Given the description of an element on the screen output the (x, y) to click on. 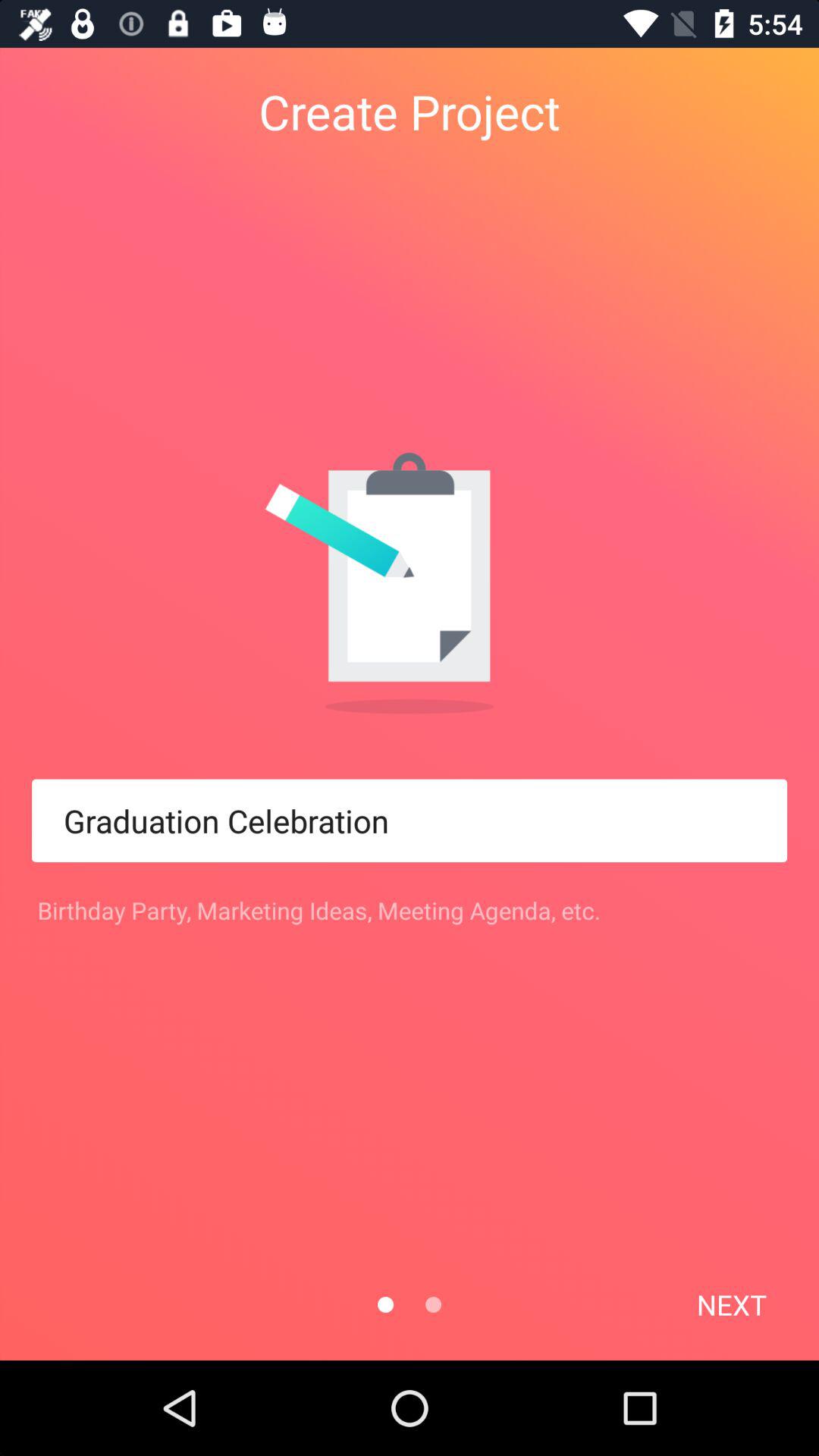
press the item above birthday party marketing (409, 820)
